Given the description of an element on the screen output the (x, y) to click on. 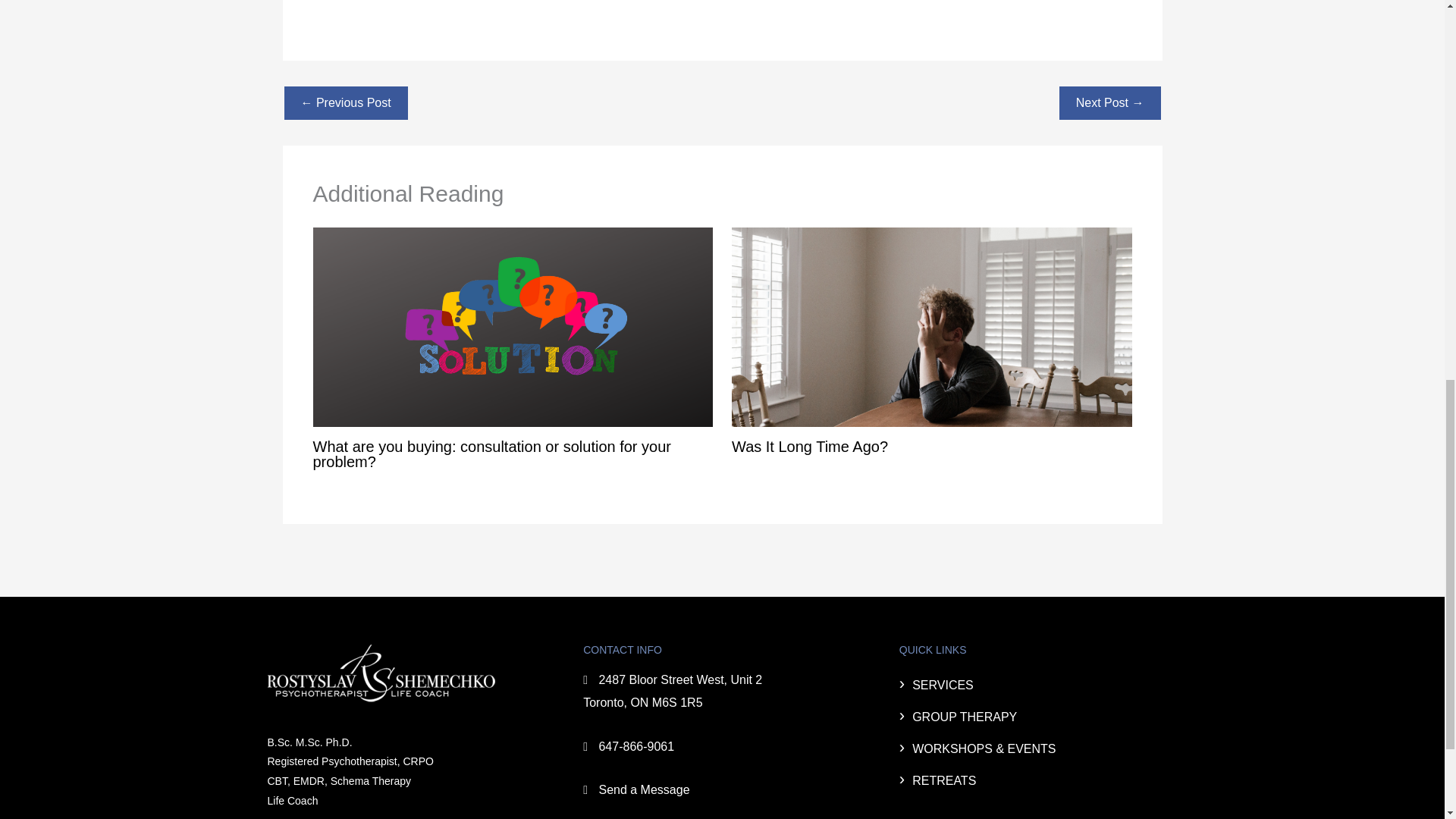
Was It Long Time Ago? (810, 446)
Family Traditions (345, 102)
Keep A Dairy (1109, 102)
